Given the description of an element on the screen output the (x, y) to click on. 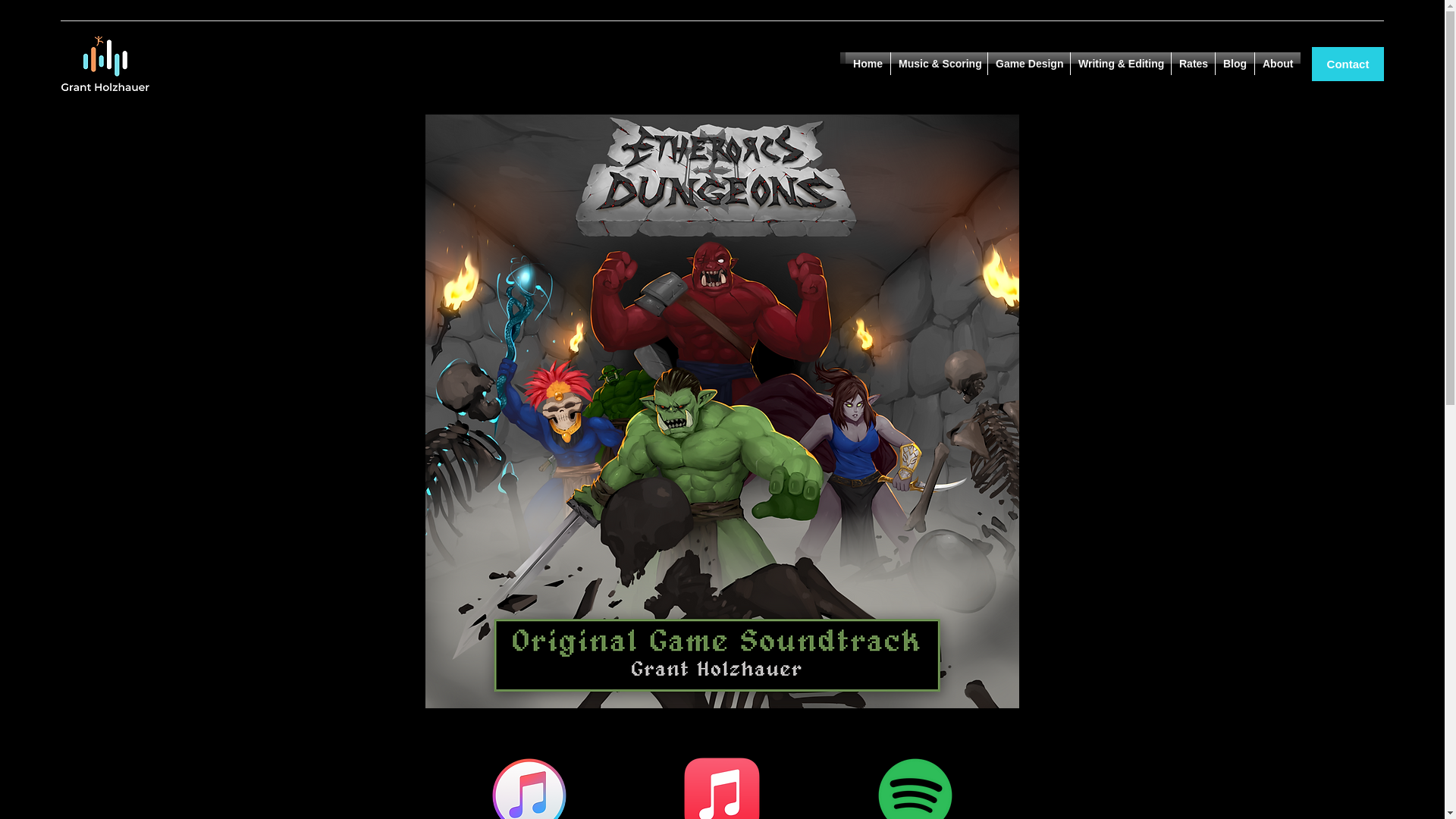
Rates (1193, 63)
Contact (1347, 63)
Blog (1234, 63)
About (1277, 63)
Home (867, 63)
Game Design (1029, 63)
